Given the description of an element on the screen output the (x, y) to click on. 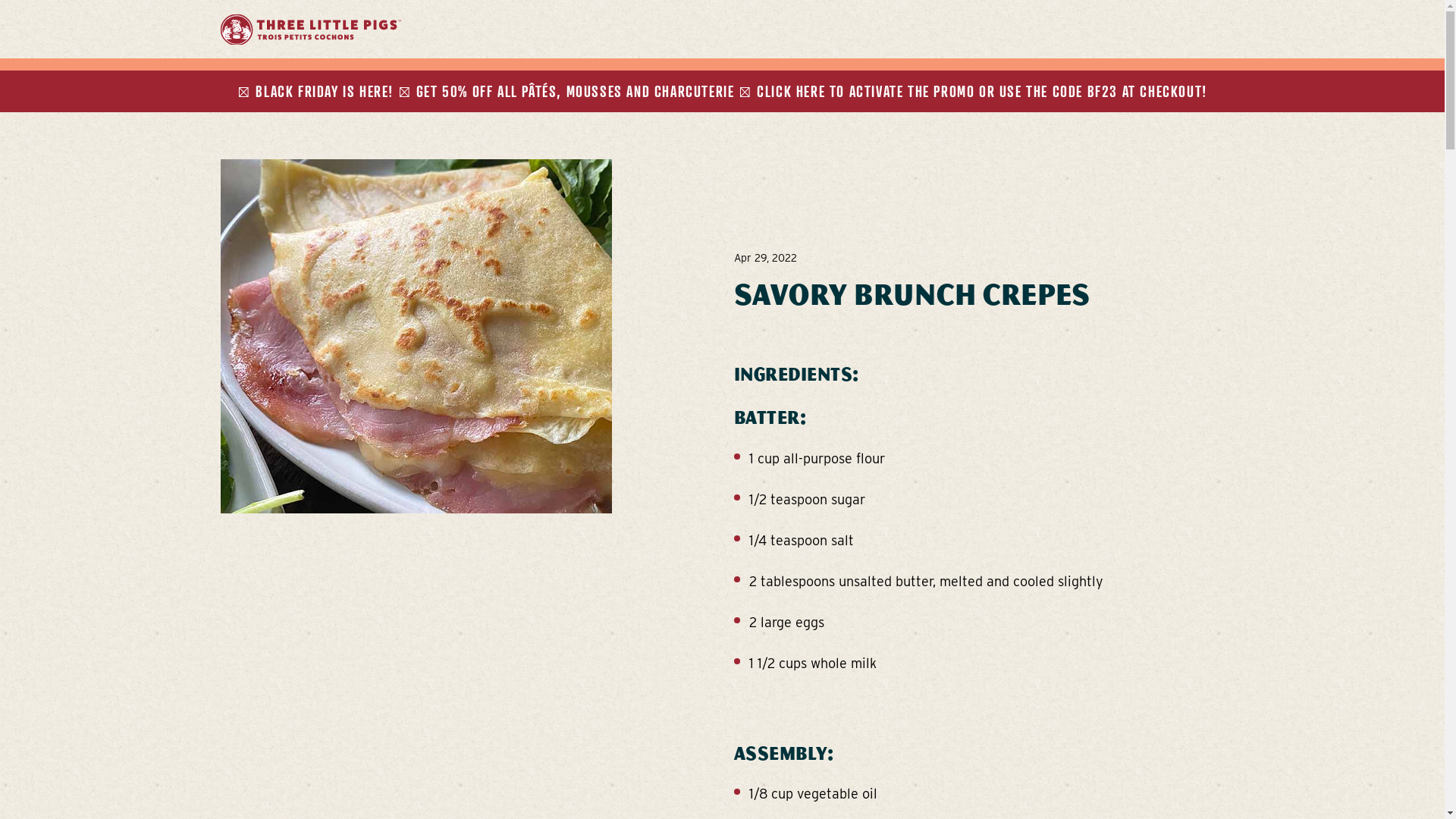
Skip to content Element type: text (721, 6)
